Given the description of an element on the screen output the (x, y) to click on. 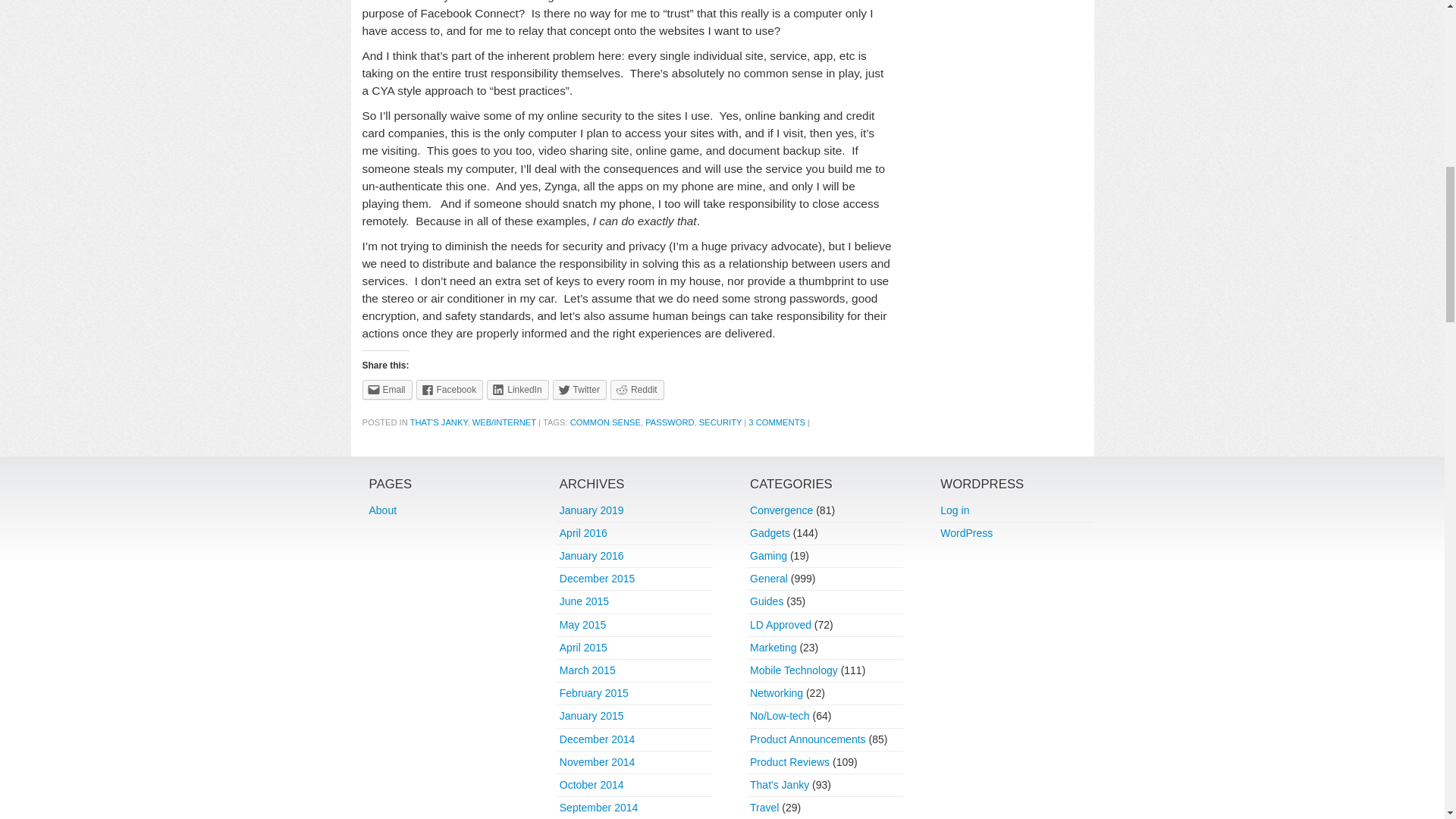
3 COMMENTS (776, 421)
Click to email this to a friend (387, 389)
PASSWORD (669, 421)
Email (387, 389)
May 2015 (582, 624)
June 2015 (583, 601)
Facebook (449, 389)
January 2015 (591, 715)
Click to share on Reddit (636, 389)
Twitter (580, 389)
Click to share on LinkedIn (517, 389)
LinkedIn (517, 389)
April 2015 (583, 647)
March 2015 (587, 670)
